Given the description of an element on the screen output the (x, y) to click on. 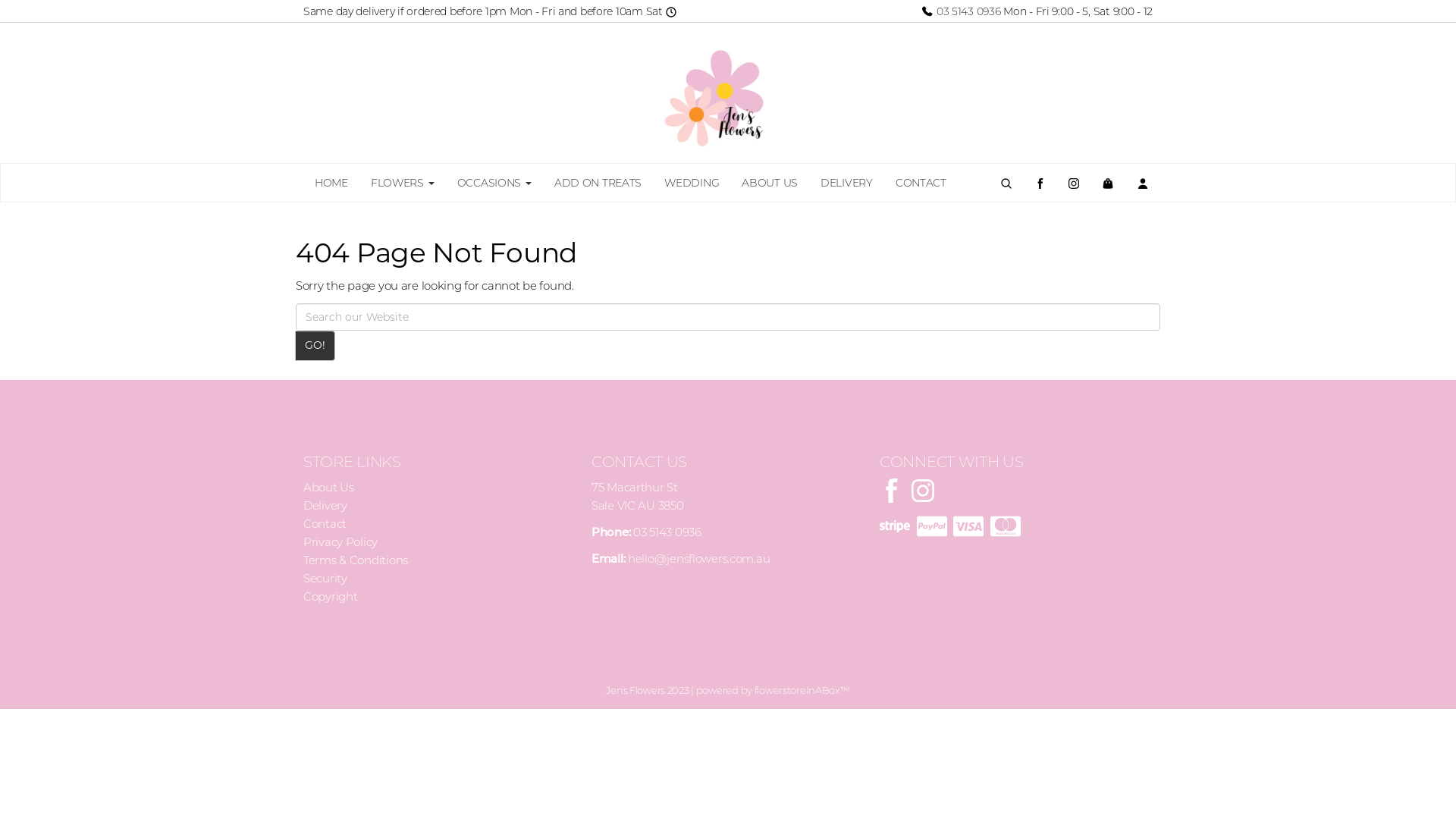
Contact Element type: text (324, 523)
About Us Element type: text (328, 487)
Delivery Element type: text (325, 505)
HOME Element type: text (331, 182)
Security Element type: text (325, 578)
03 5143 0936 Element type: text (959, 11)
FLOWERS Element type: text (402, 182)
Privacy Policy Element type: text (340, 541)
CONTACT Element type: text (920, 182)
ADD ON TREATS Element type: text (597, 182)
hello@jensflowers.com.au Element type: text (698, 558)
Terms & Conditions Element type: text (355, 559)
Copyright Element type: text (330, 596)
DELIVERY Element type: text (846, 182)
OCCASIONS Element type: text (493, 182)
ABOUT US Element type: text (769, 182)
Jens Flowers Element type: hover (727, 92)
WEDDING Element type: text (691, 182)
GO! Element type: text (314, 345)
instagram Element type: text (922, 489)
INSTAGRAM [#167] CREATED WITH SKETCH. Element type: text (1073, 182)
